Given the description of an element on the screen output the (x, y) to click on. 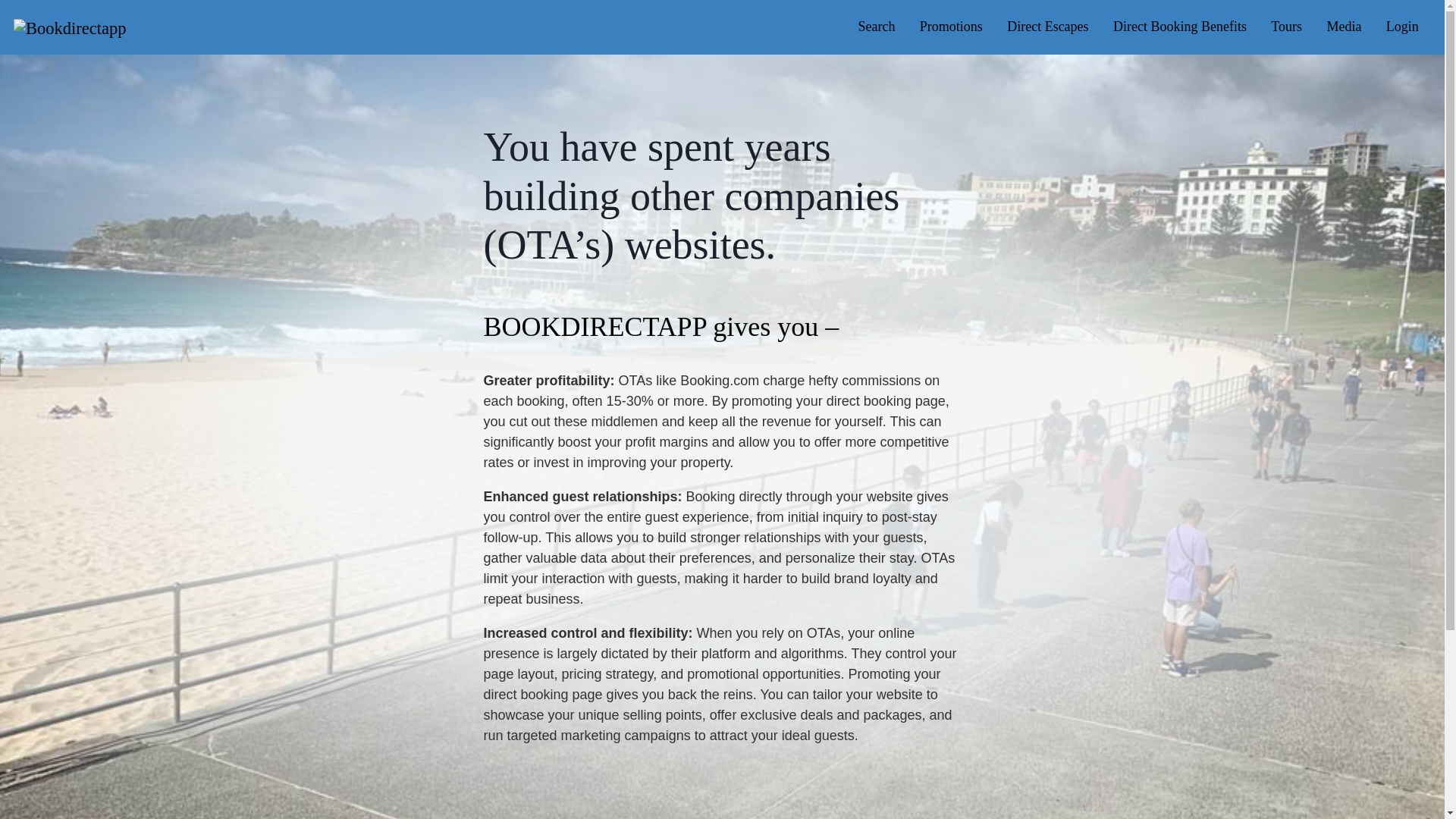
Direct Escapes (1047, 26)
Tours (1286, 26)
Search (876, 26)
Media (1343, 26)
Bookdirectapp (69, 26)
Direct Booking Benefits (1179, 26)
Login (1402, 26)
Promotions (950, 26)
